Given the description of an element on the screen output the (x, y) to click on. 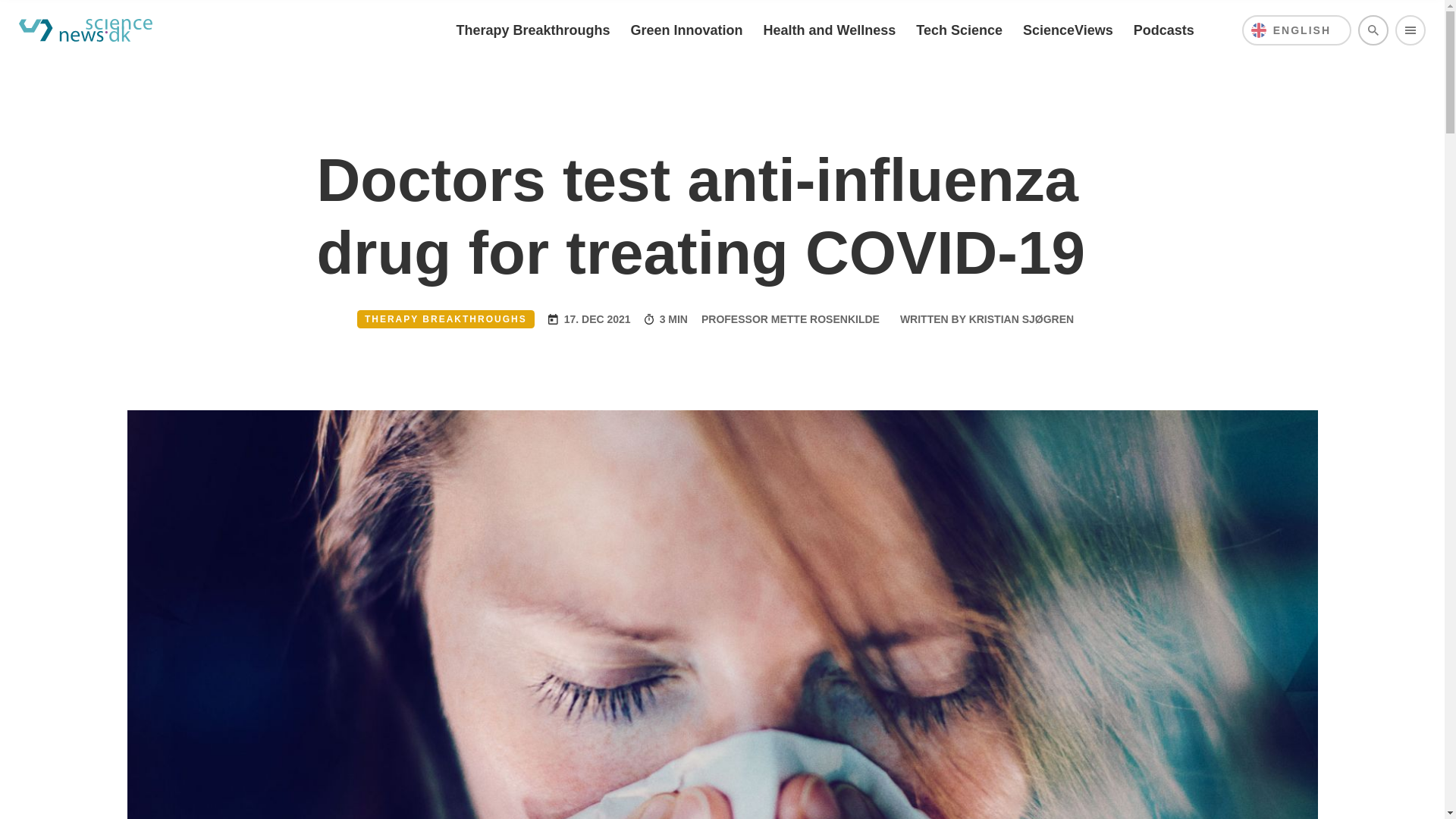
ScienceViews (1068, 30)
ENGLISH (1296, 30)
Tech Science (959, 30)
Podcasts (1163, 30)
Green Innovation (686, 30)
Therapy Breakthroughs (532, 30)
Health and Wellness (829, 30)
